Given the description of an element on the screen output the (x, y) to click on. 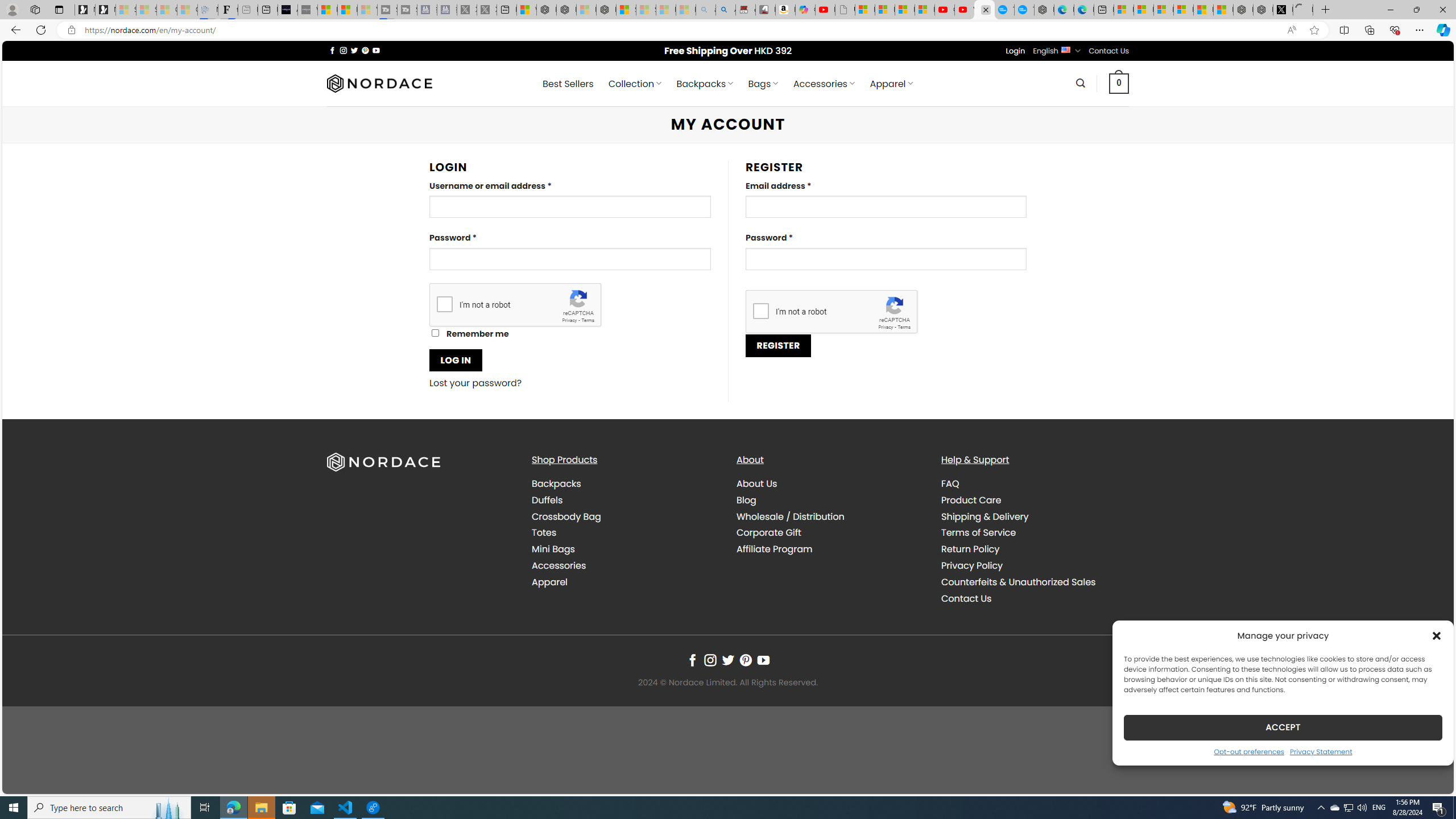
Mini Bags (553, 549)
About Us (830, 483)
Go to top (1430, 777)
Mini Bags (625, 549)
Privacy Policy (1034, 565)
